Given the description of an element on the screen output the (x, y) to click on. 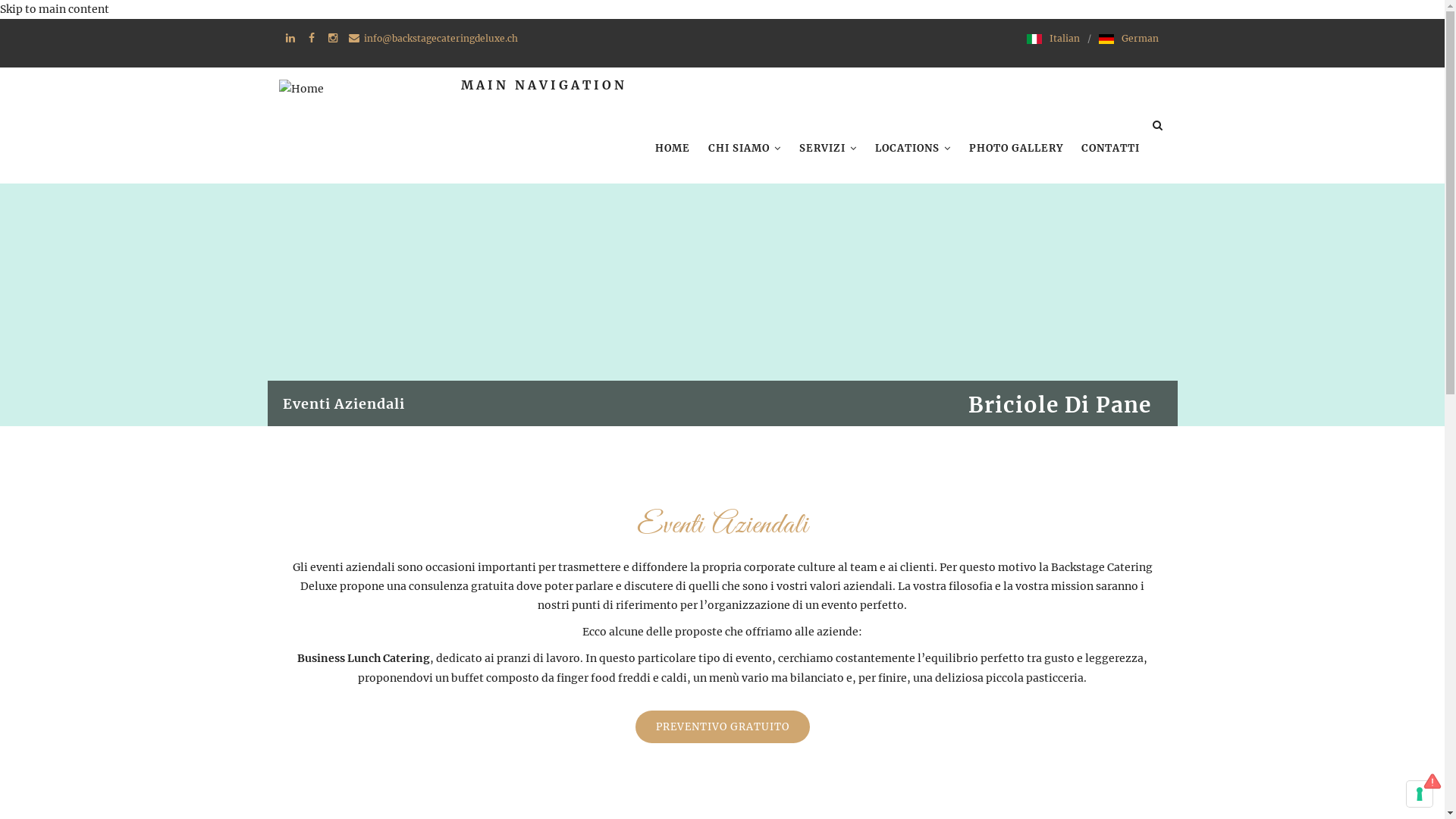
LOCATIONS Element type: text (913, 147)
CHI SIAMO Element type: text (744, 147)
CONTATTI Element type: text (1110, 147)
PREVENTIVO GRATUITO Element type: text (722, 726)
HOME Element type: text (672, 147)
info@backstagecateringdeluxe.ch Element type: text (440, 37)
Skip to main content Element type: text (54, 8)
German Element type: text (1139, 37)
SERVIZI Element type: text (828, 147)
Home Element type: text (986, 451)
PHOTO GALLERY Element type: text (1016, 147)
Servizi Element type: text (1028, 451)
Home Element type: hover (301, 86)
Italian Element type: text (1064, 37)
